Given the description of an element on the screen output the (x, y) to click on. 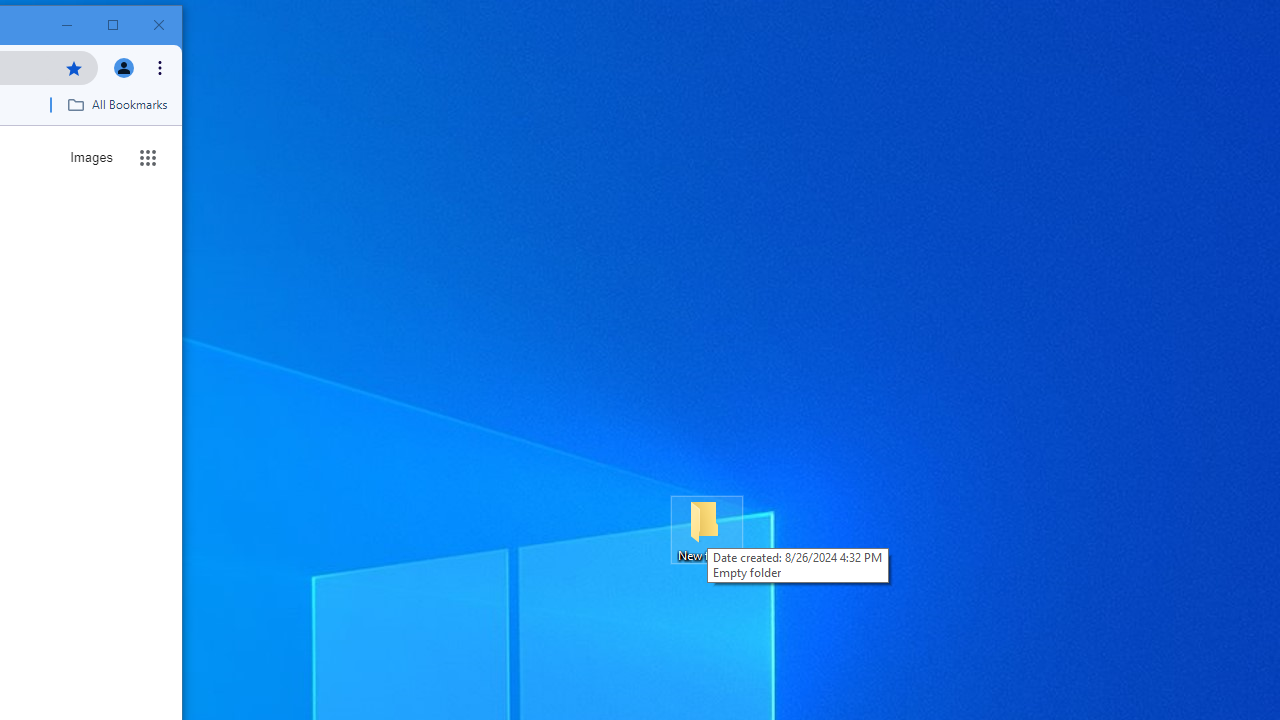
New folder (706, 530)
